Given the description of an element on the screen output the (x, y) to click on. 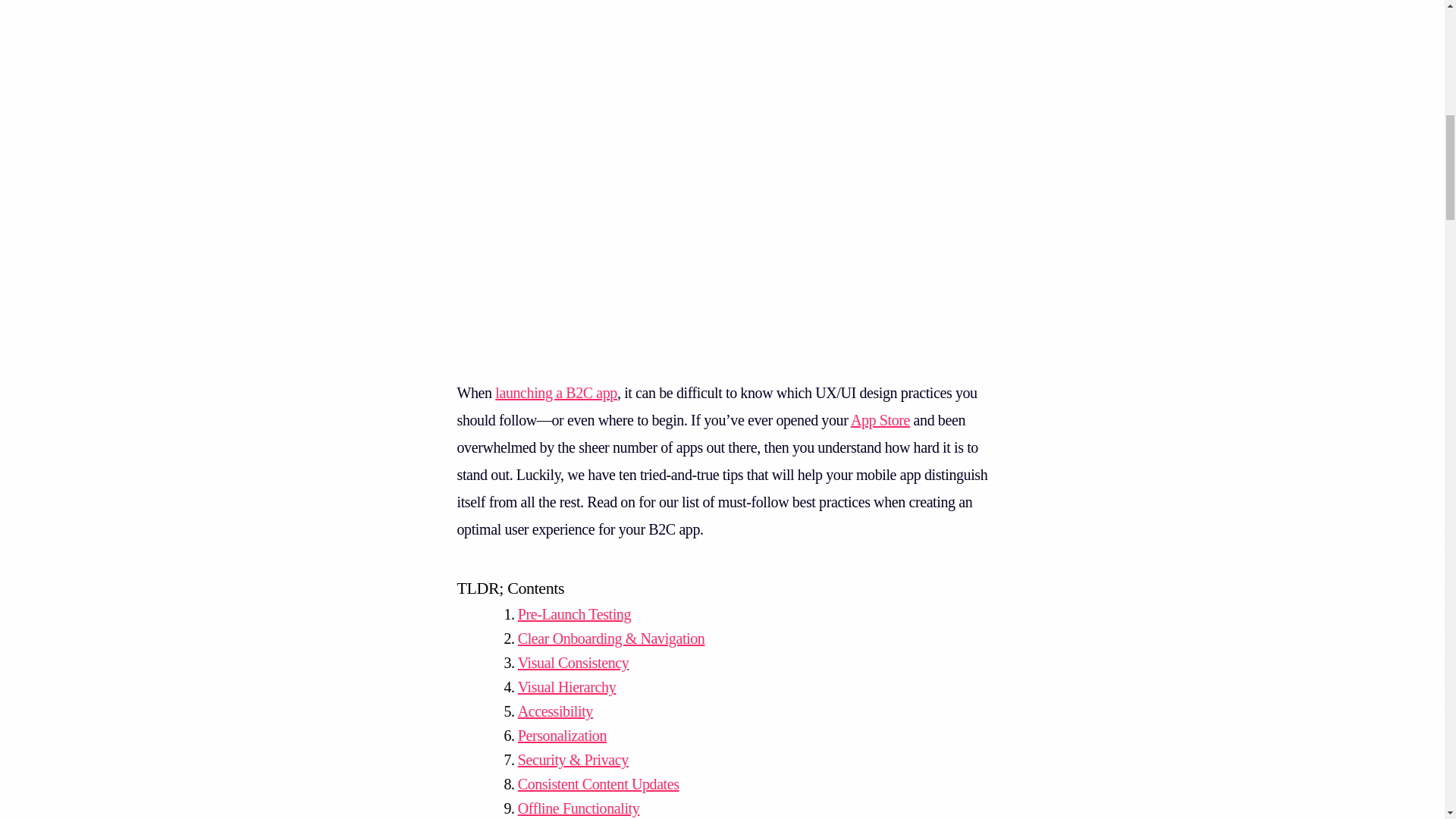
Offline Functionality (571, 807)
Pre-Launch Testing (566, 613)
Personalization (555, 735)
Visual Hierarchy (559, 686)
Accessibility (547, 711)
Visual Consistency (565, 662)
Consistent Content Updates (590, 784)
